Given the description of an element on the screen output the (x, y) to click on. 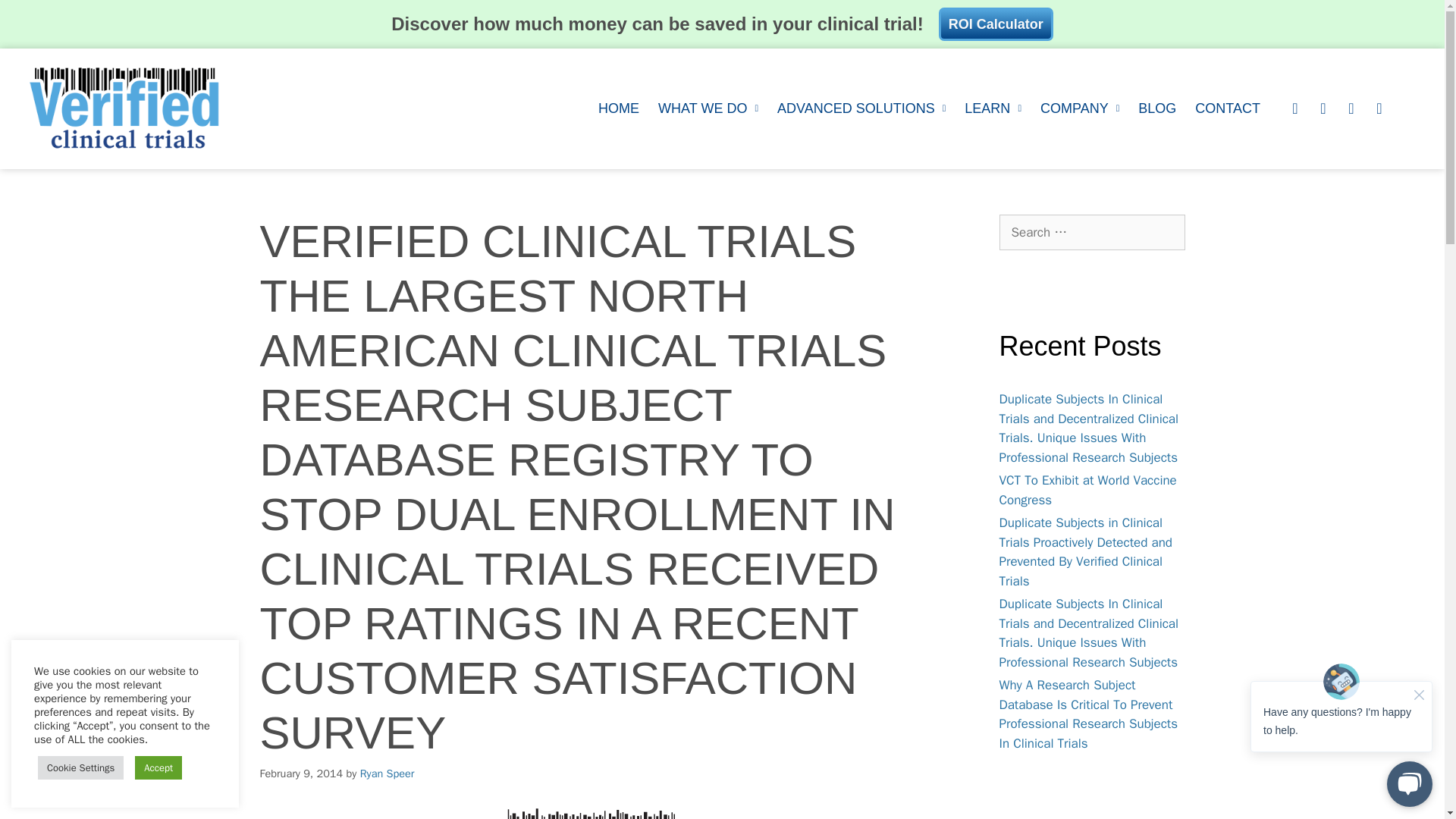
COMPANY (1079, 108)
View all posts by Ryan Speer (386, 773)
ROI Calculator (995, 23)
HOME (618, 108)
BLOG (1157, 108)
CONTACT (1228, 108)
WHAT WE DO (707, 108)
LEARN (992, 108)
ADVANCED SOLUTIONS (861, 108)
Search for: (1091, 232)
